Given the description of an element on the screen output the (x, y) to click on. 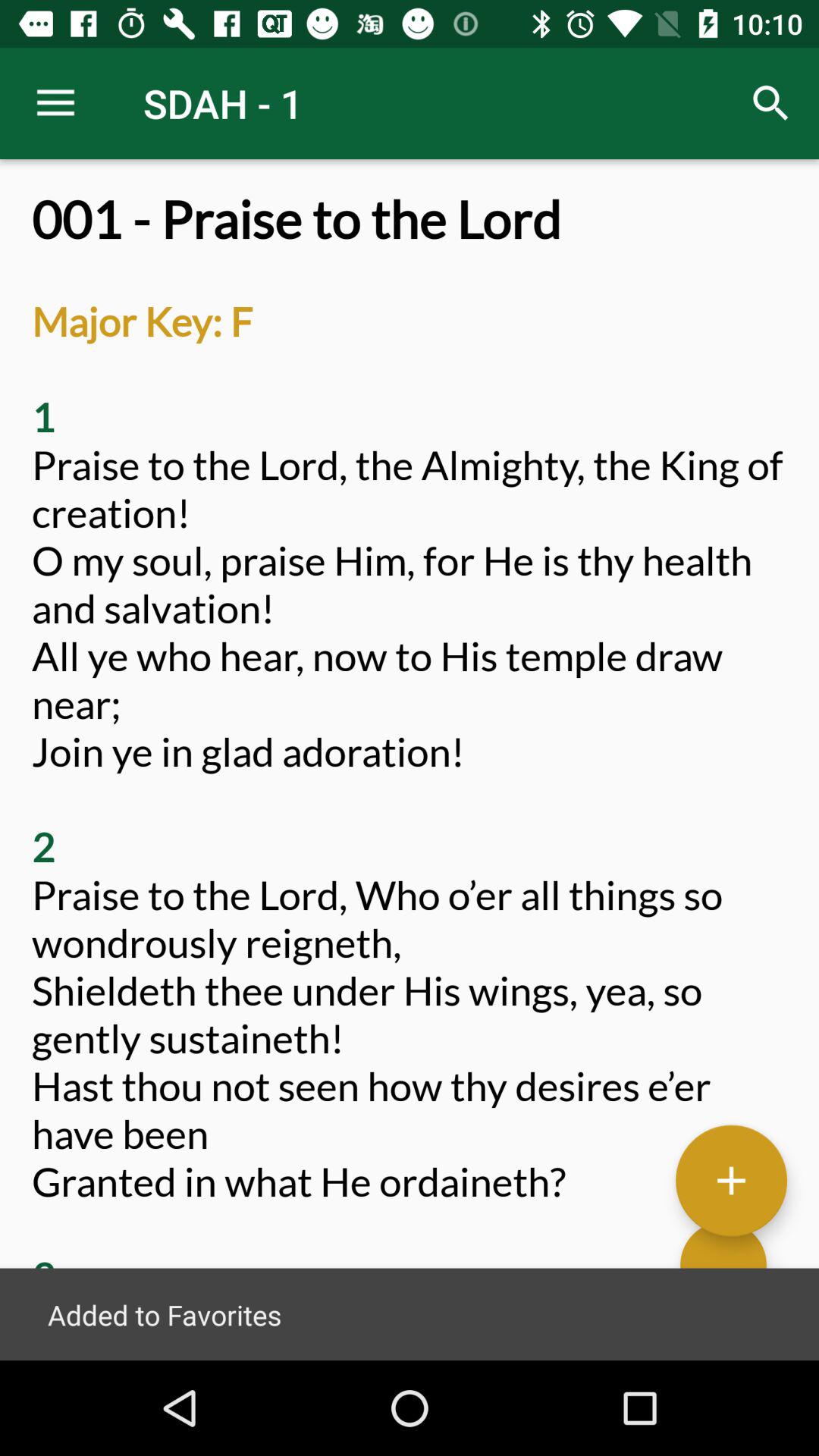
tap the 001 praise to item (409, 775)
